Given the description of an element on the screen output the (x, y) to click on. 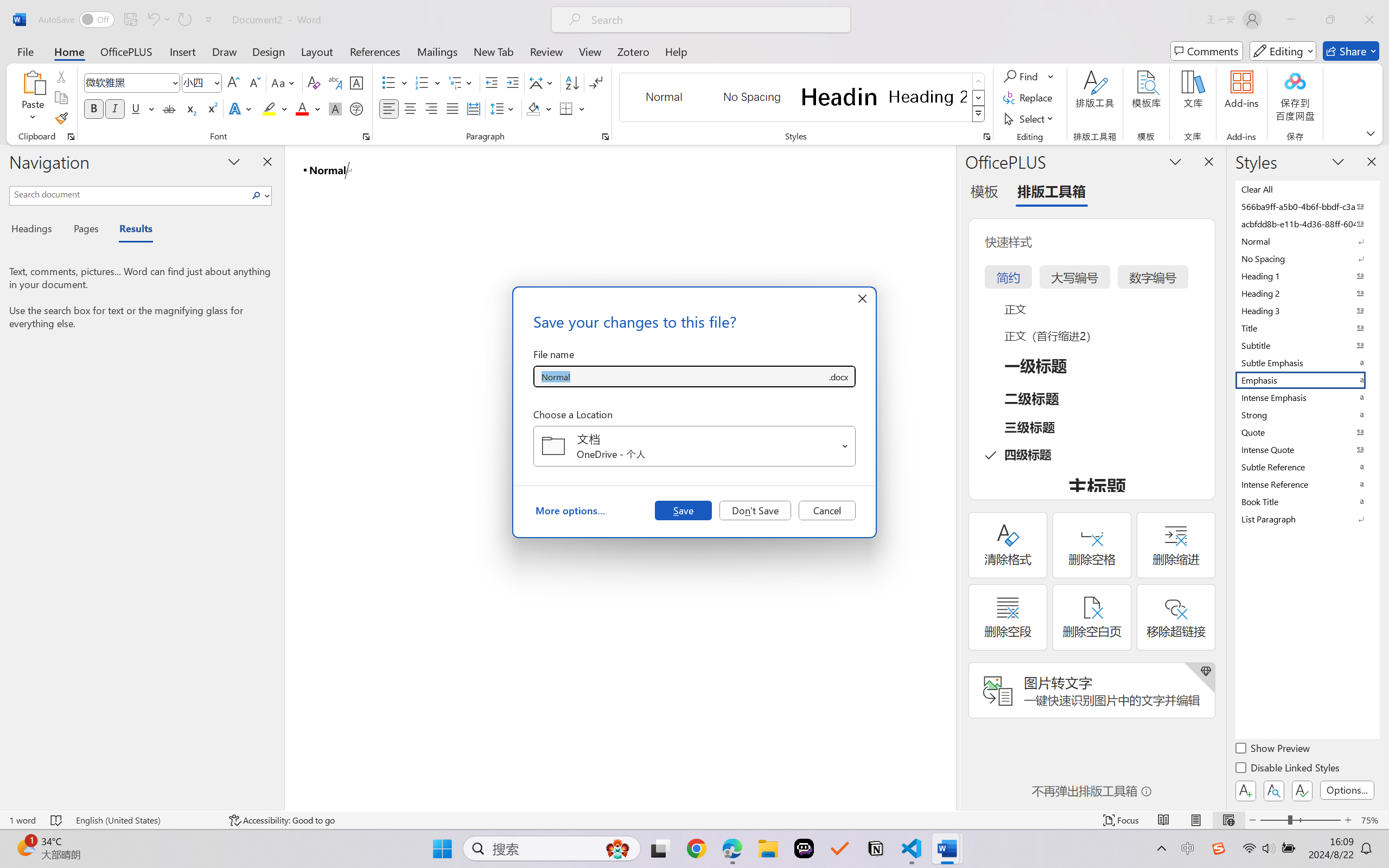
Word Count 1 word (21, 819)
Strikethrough (169, 108)
Don't Save (755, 509)
View (589, 51)
Book Title (1306, 501)
Subtitle (1306, 345)
Decrease Indent (491, 82)
Character Border (356, 82)
Restore Down (1330, 19)
Zotero (632, 51)
Center (409, 108)
